Given the description of an element on the screen output the (x, y) to click on. 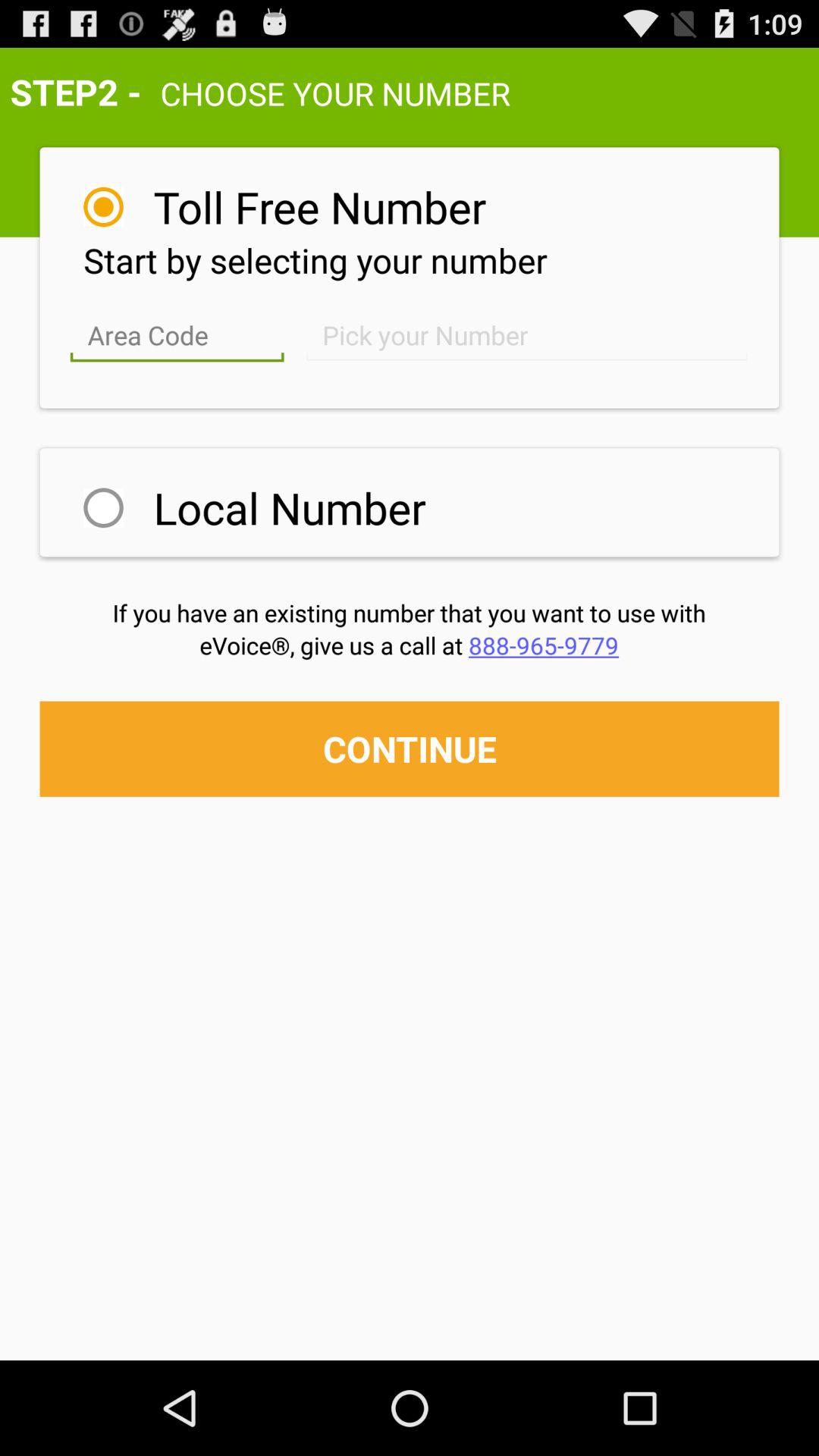
select icon on the left (103, 507)
